Given the description of an element on the screen output the (x, y) to click on. 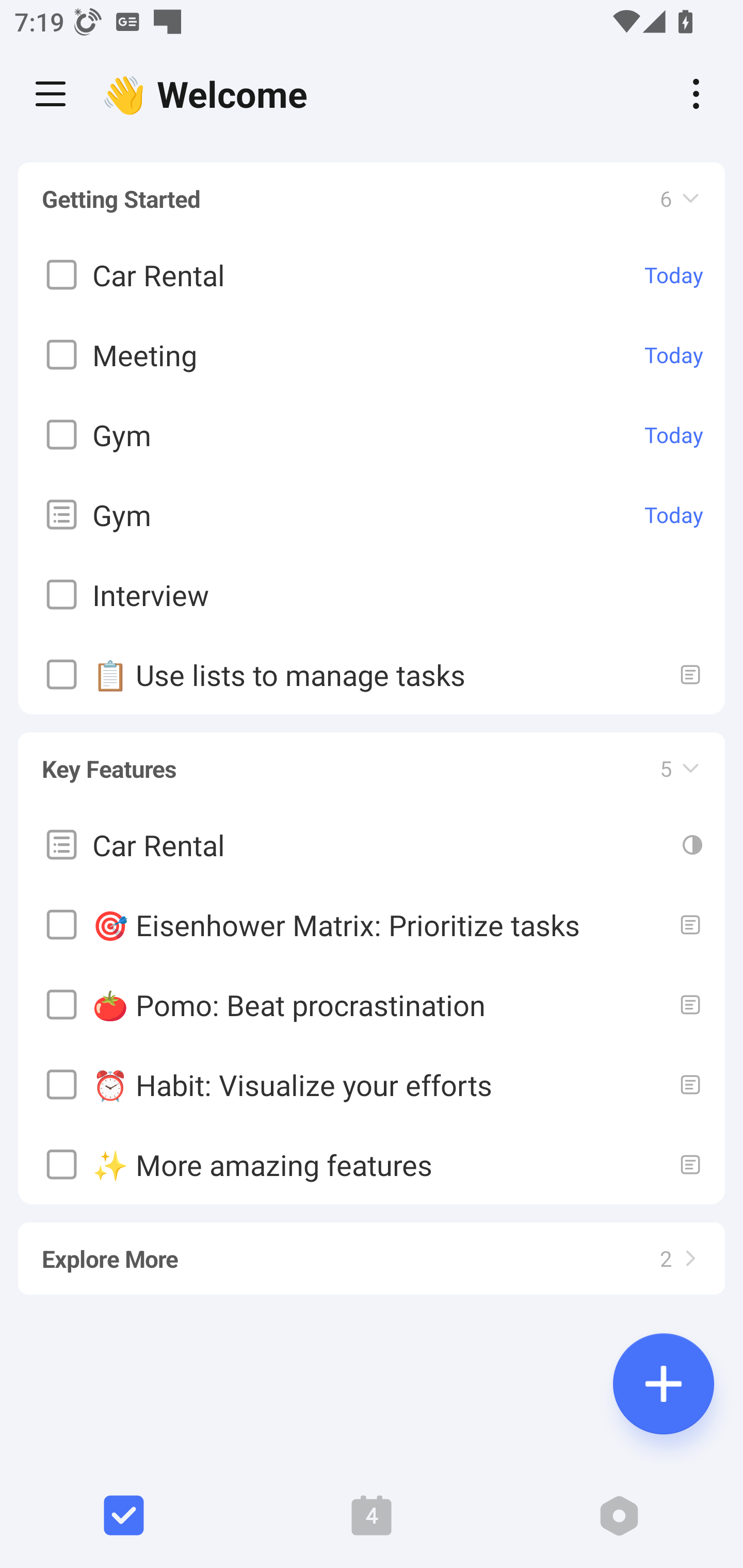
👋 Welcome (209, 93)
Getting Started 6 (371, 199)
Car Rental Today (371, 275)
Today (673, 275)
Meeting Today (371, 355)
Today (673, 355)
Gym Today (371, 435)
Today (673, 435)
Gym Today (371, 515)
Today (673, 514)
Interview (371, 595)
📋 Use lists to manage tasks (371, 675)
Key Features 5 (371, 759)
Car Rental (371, 844)
🎯 Eisenhower Matrix: Prioritize tasks (371, 924)
🍅 Pomo: Beat procrastination (371, 1004)
⏰ Habit: Visualize your efforts (371, 1084)
✨ More amazing features (371, 1164)
Explore More 2 (371, 1249)
